Given the description of an element on the screen output the (x, y) to click on. 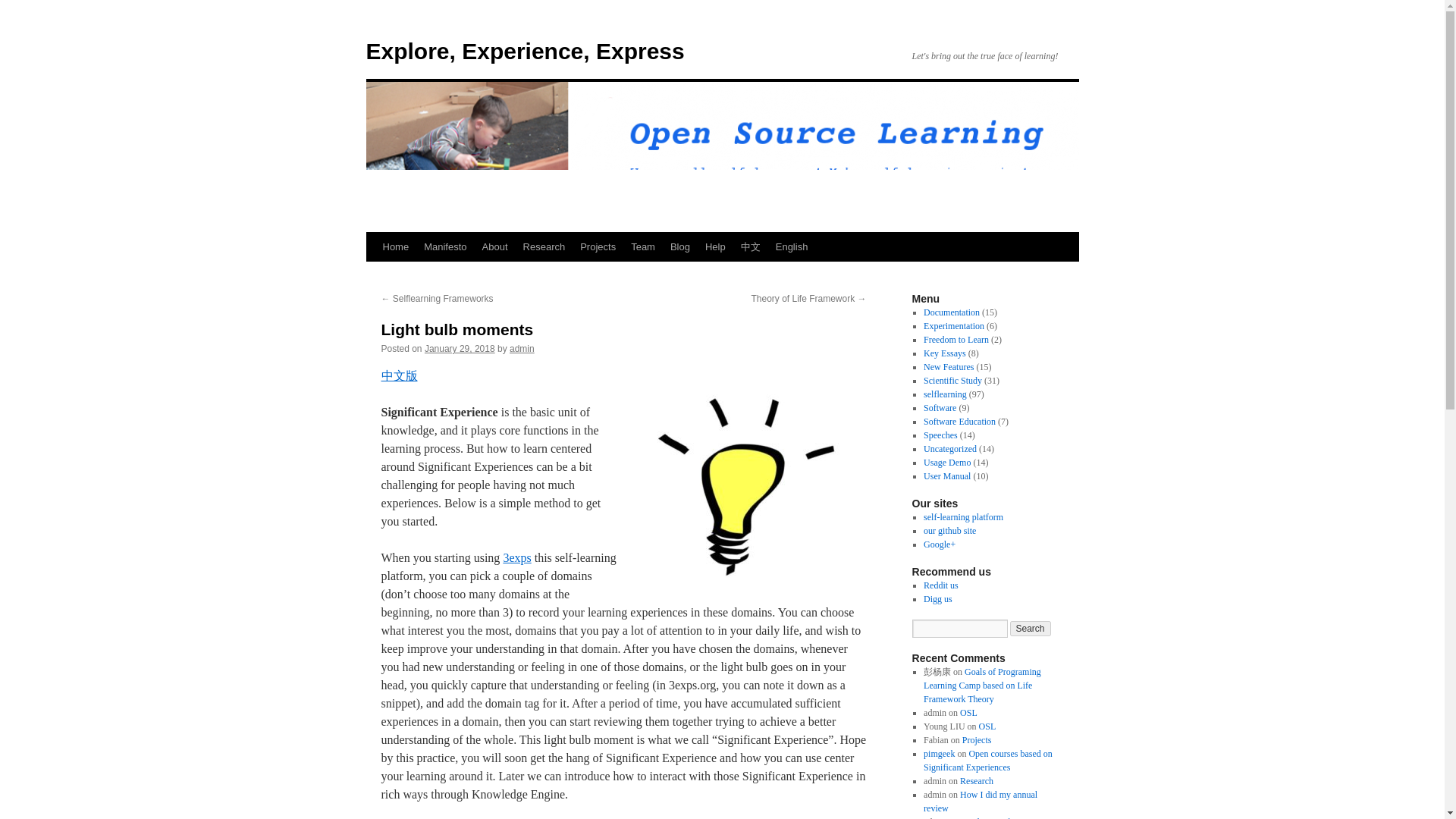
January 29, 2018 (460, 348)
recommend us on reddit.com (940, 584)
Key Essays (944, 353)
admin (521, 348)
Software Education (959, 421)
selflearning (944, 394)
New Features (948, 366)
User Manual (947, 475)
our github site (949, 530)
Speeches (940, 434)
Freedom to Learn (955, 339)
Blog (679, 246)
Experimentation (953, 326)
English (791, 246)
